Given the description of an element on the screen output the (x, y) to click on. 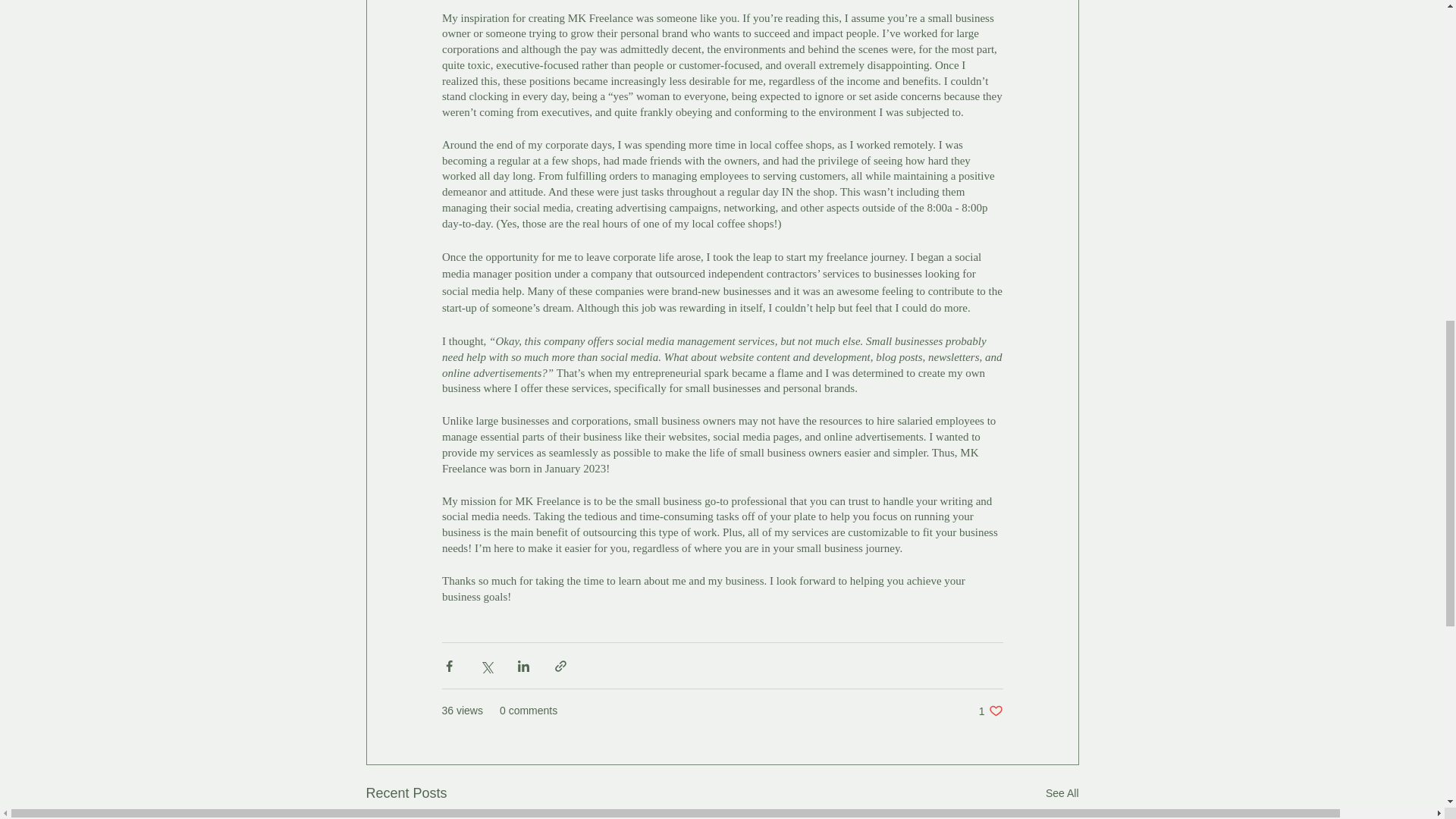
See All (990, 710)
